Given the description of an element on the screen output the (x, y) to click on. 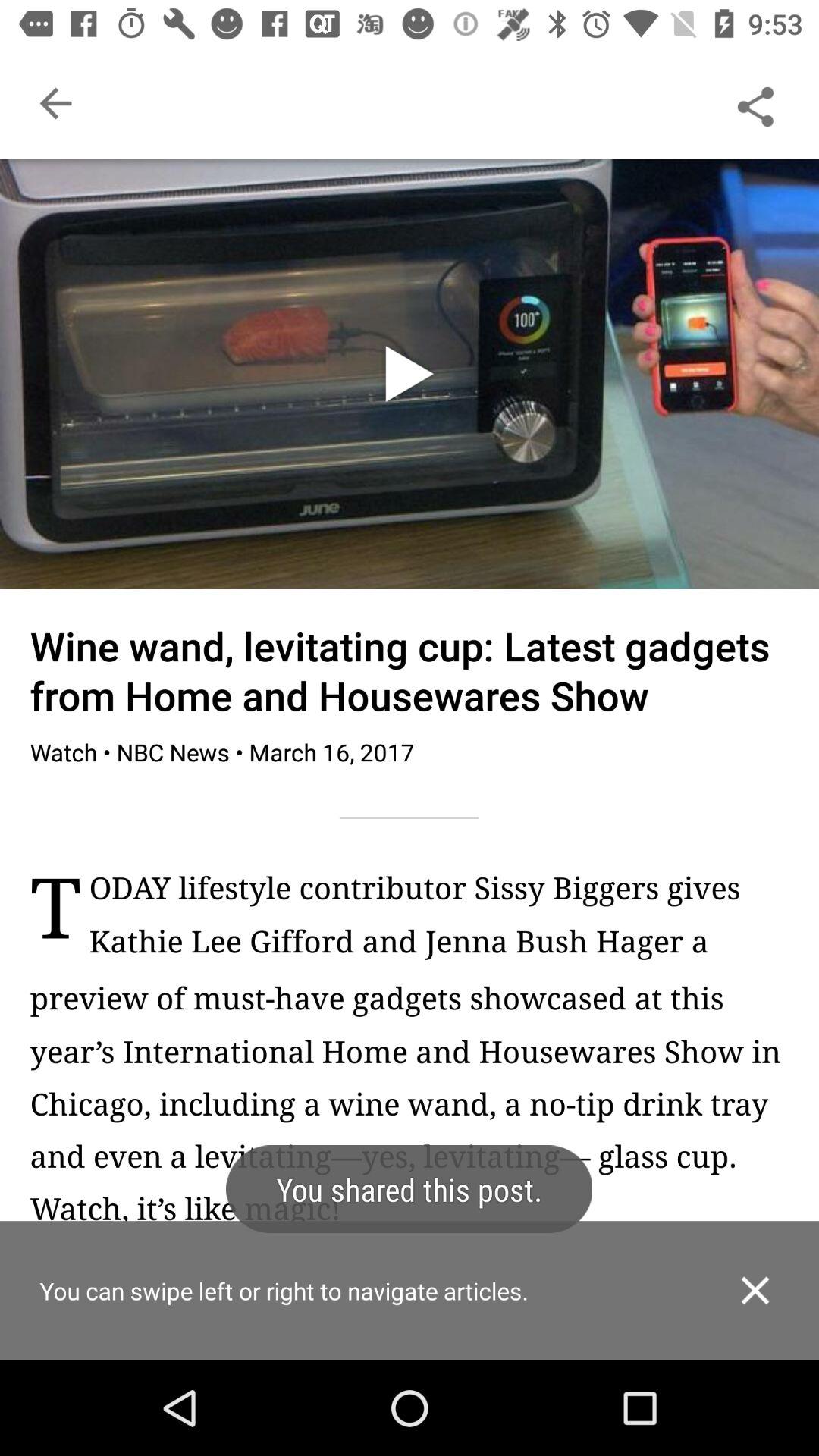
select the navigate articles (409, 1316)
